Given the description of an element on the screen output the (x, y) to click on. 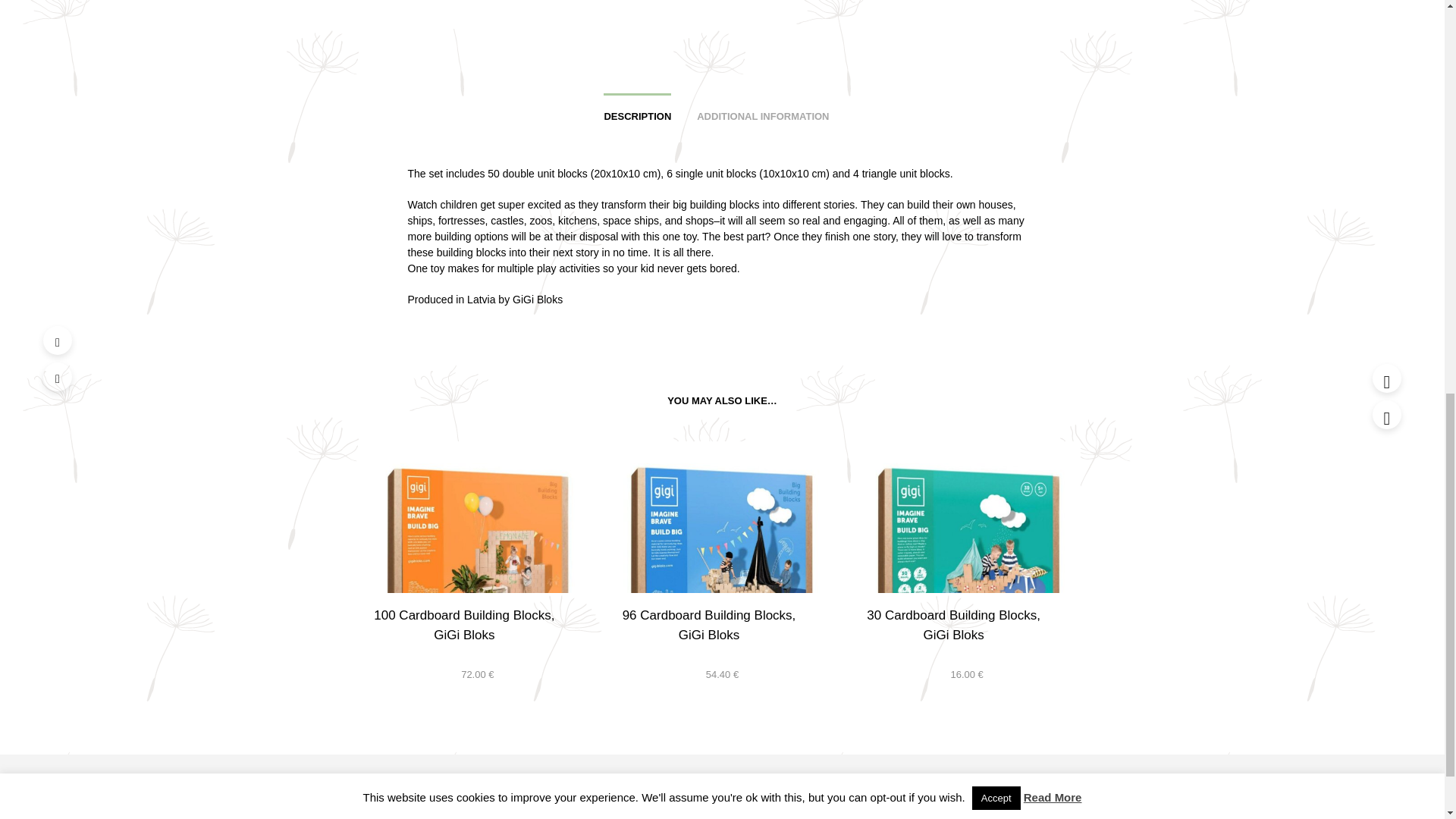
ADDITIONAL INFORMATION (762, 111)
100 Cardboard Building Blocks, GiGi Bloks (464, 625)
DESCRIPTION (637, 111)
